Given the description of an element on the screen output the (x, y) to click on. 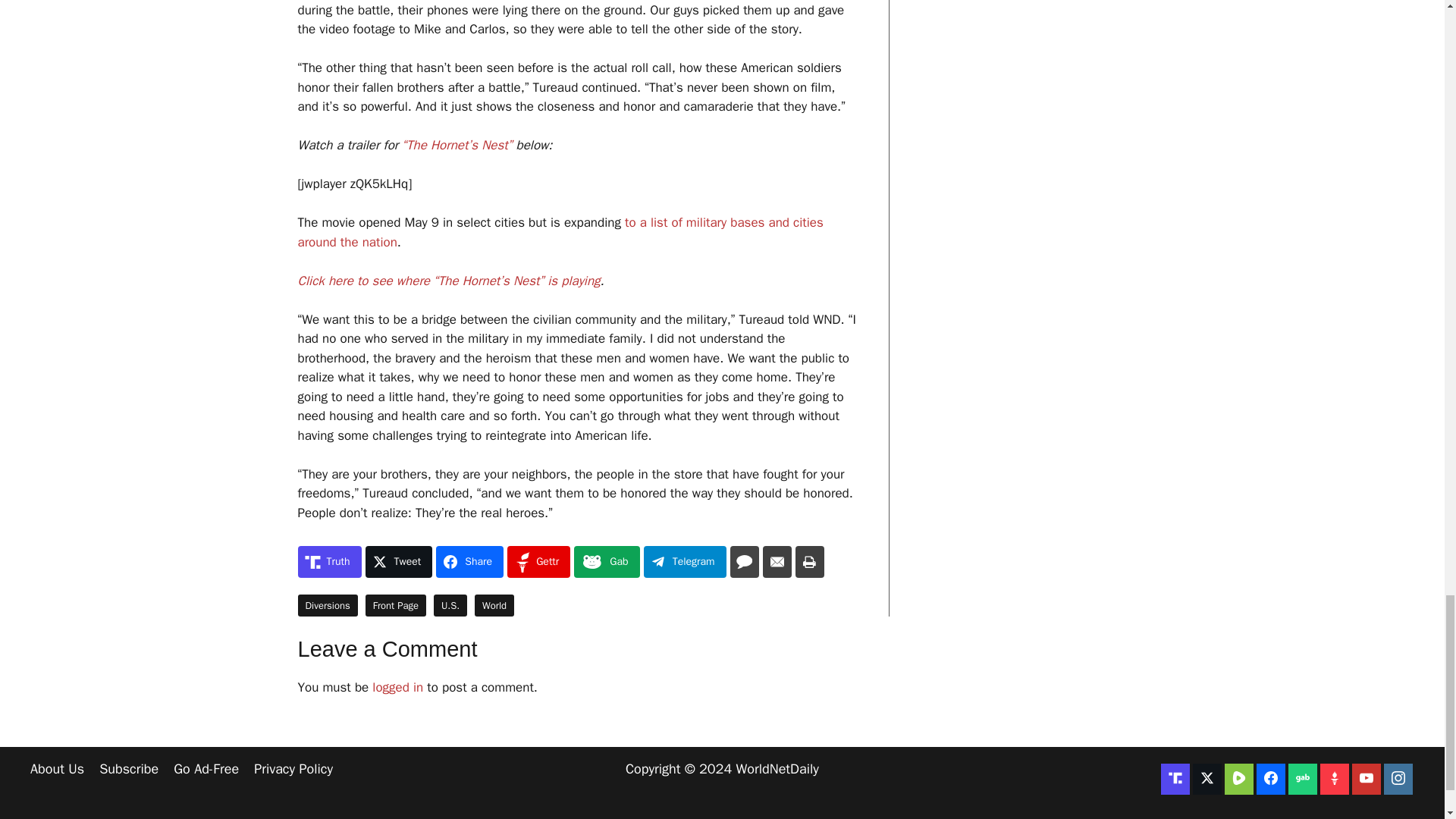
Share on Truth (329, 562)
Share on Tweet (398, 562)
Share on Gettr (538, 562)
Share on Share (469, 562)
